Given the description of an element on the screen output the (x, y) to click on. 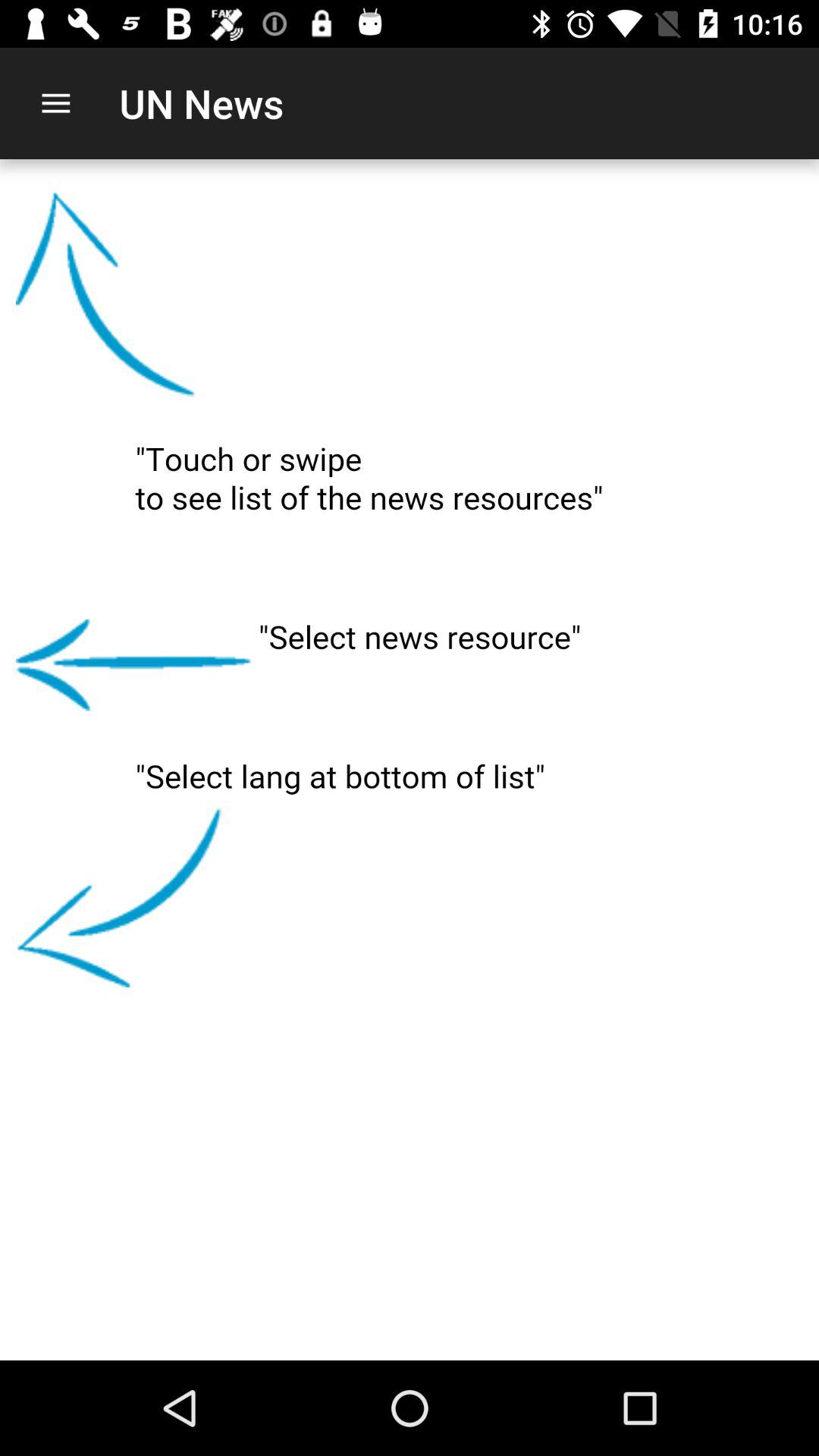
touchscreen directions (409, 759)
